Given the description of an element on the screen output the (x, y) to click on. 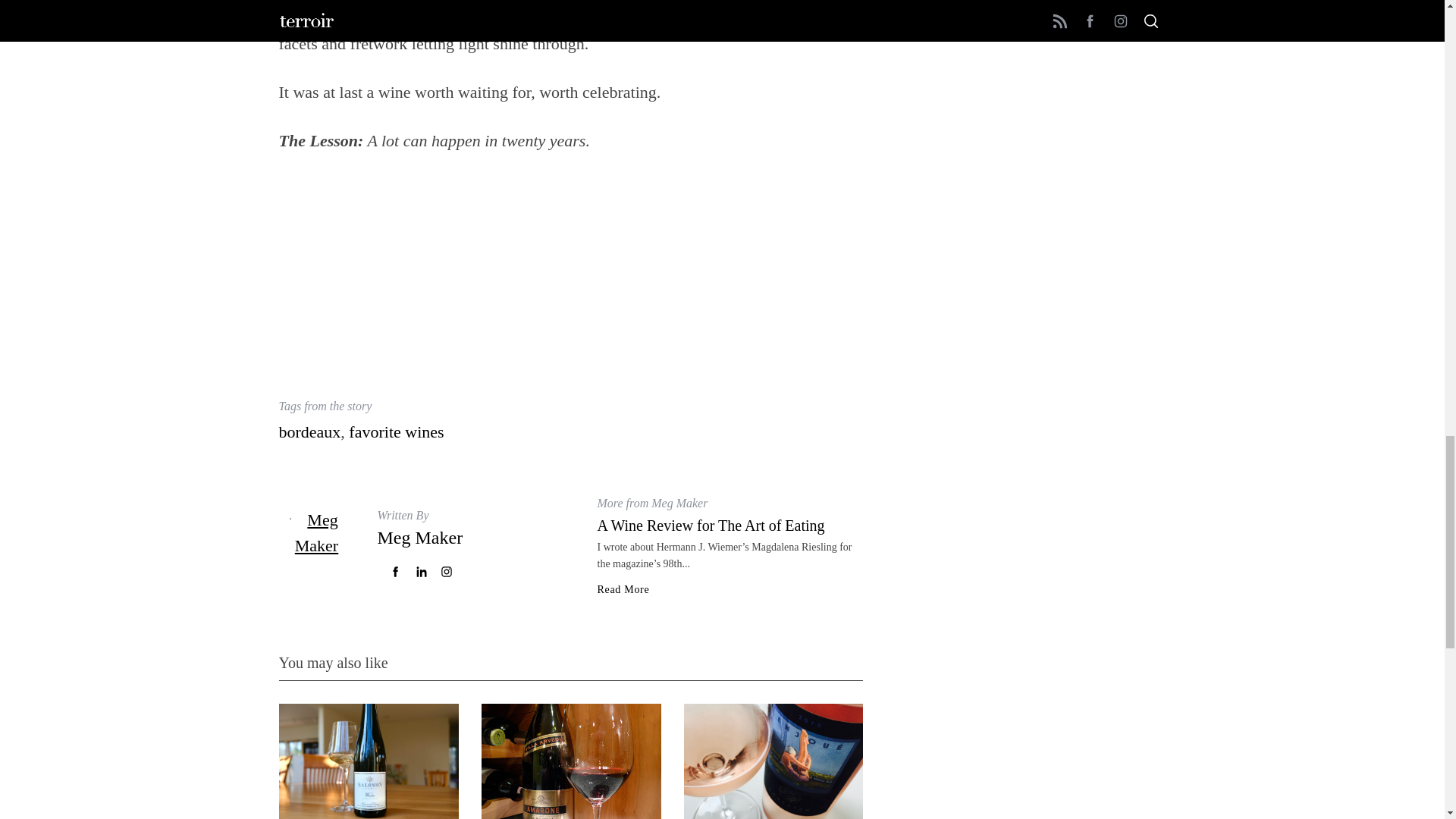
favorite wines (396, 431)
Meg Maker (420, 537)
bordeaux (309, 431)
A Wine Review for The Art of Eating (710, 524)
